Given the description of an element on the screen output the (x, y) to click on. 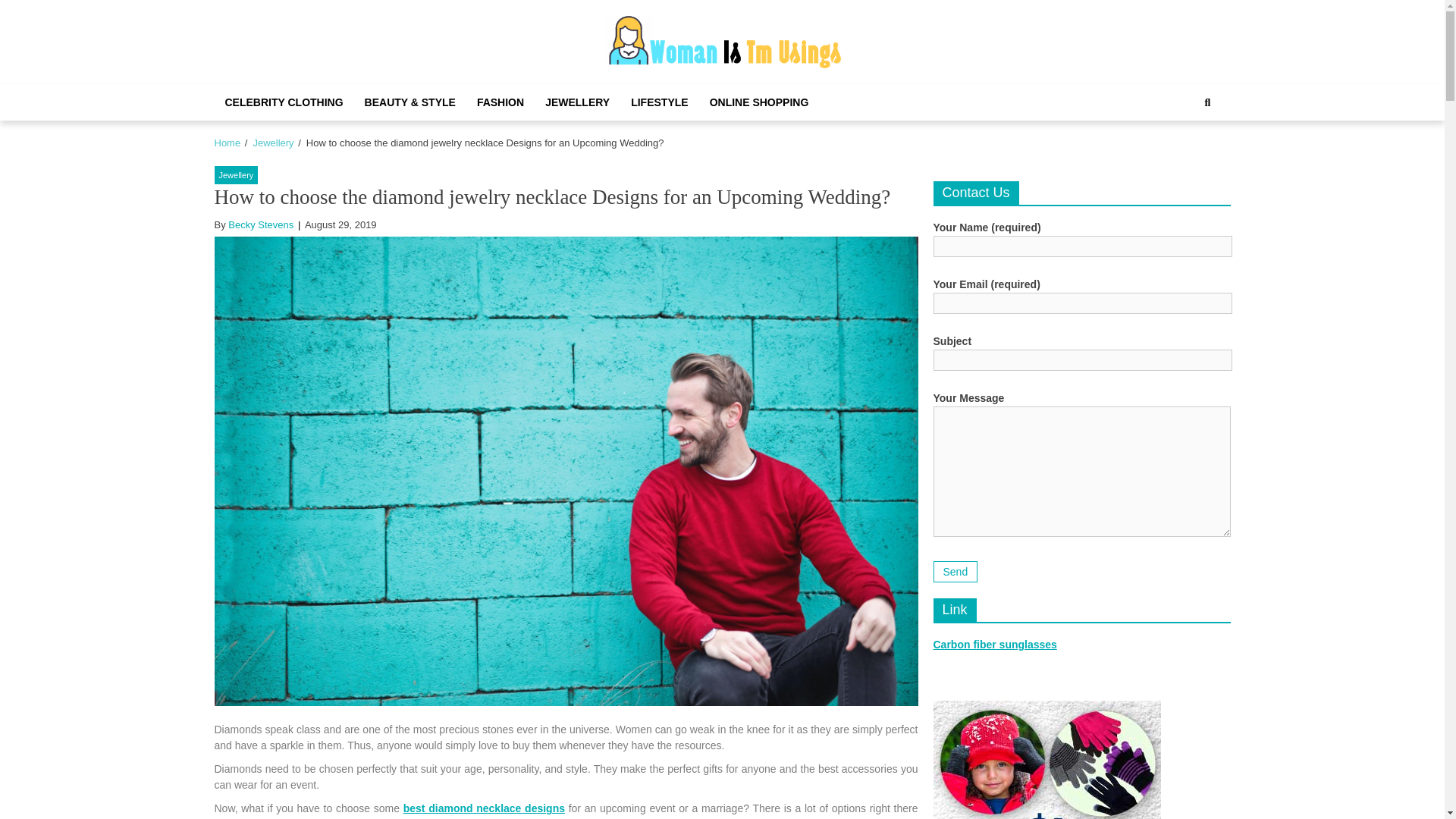
LIFESTYLE (659, 102)
Search (1191, 153)
Send (954, 571)
CELEBRITY CLOTHING (283, 102)
Jewellery (235, 175)
ONLINE SHOPPING (758, 102)
Home (227, 142)
Becky Stevens (261, 224)
Jewellery (272, 142)
JEWELLERY (577, 102)
best diamond necklace designs (483, 808)
Send (954, 571)
Search (1207, 102)
FASHION (499, 102)
Womanist Musings (734, 86)
